Given the description of an element on the screen output the (x, y) to click on. 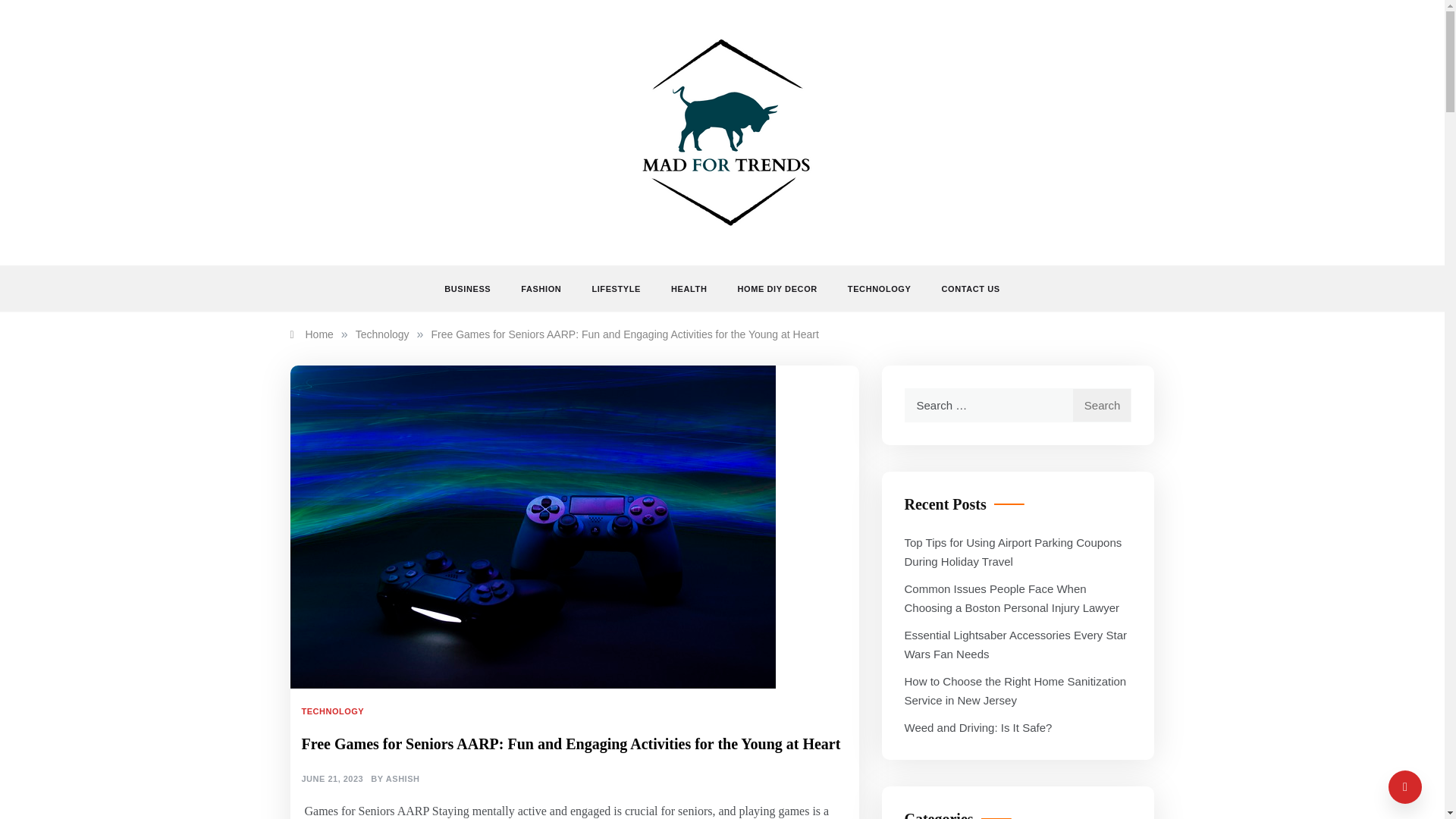
Weed and Driving: Is It Safe? (977, 727)
Technology (382, 334)
FASHION (540, 289)
HOME DIY DECOR (776, 289)
TECHNOLOGY (879, 289)
Search (1101, 405)
LIFESTYLE (616, 289)
Search (1101, 405)
